Given the description of an element on the screen output the (x, y) to click on. 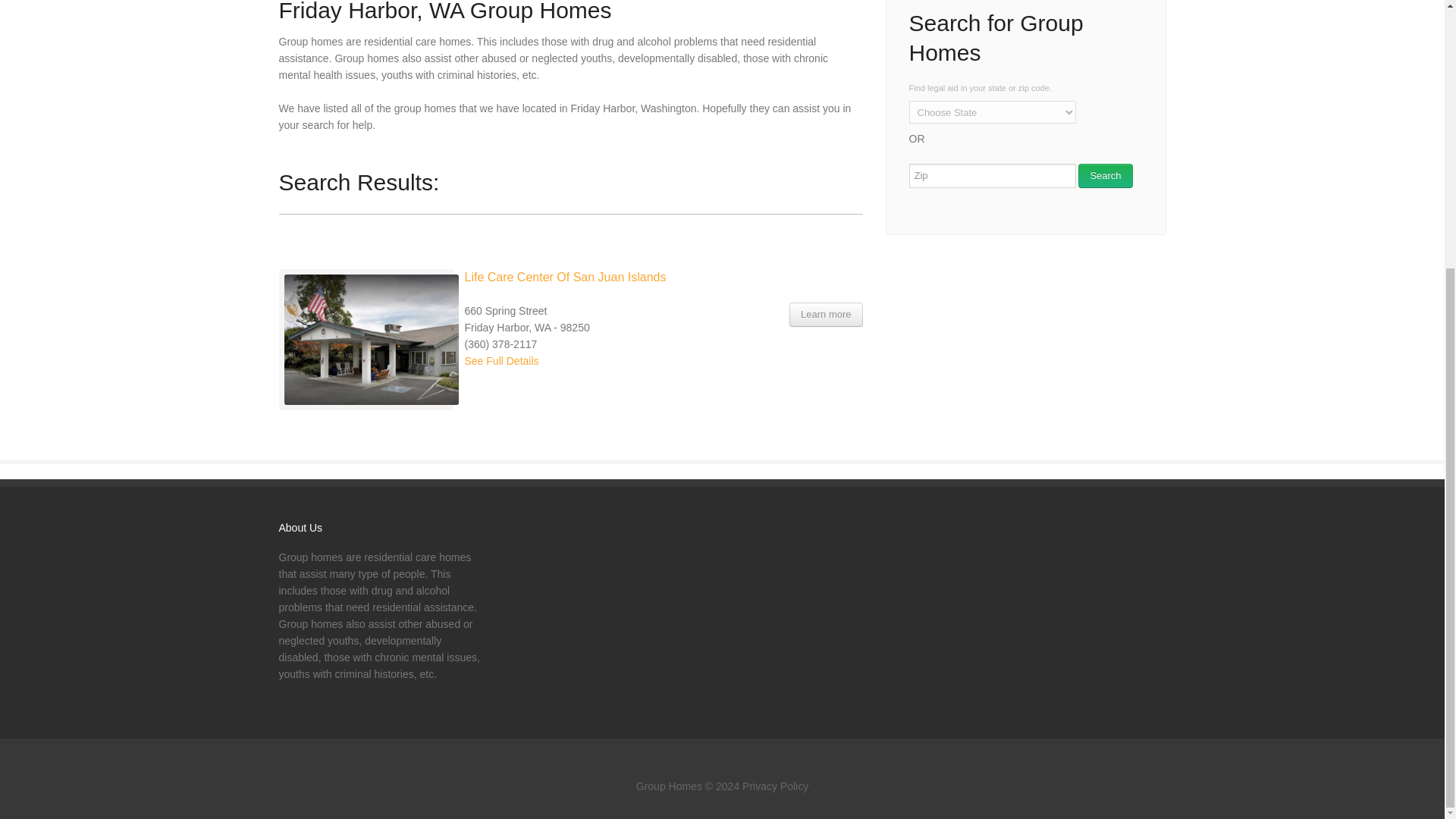
See Full Details (501, 360)
Zip (991, 175)
Search (1105, 175)
Search (1105, 175)
Zip (991, 175)
Privacy Policy (775, 786)
Life Care Center Of San Juan Islands (825, 314)
Learn more (825, 314)
Life Care Center Of San Juan Islands (564, 277)
